Given the description of an element on the screen output the (x, y) to click on. 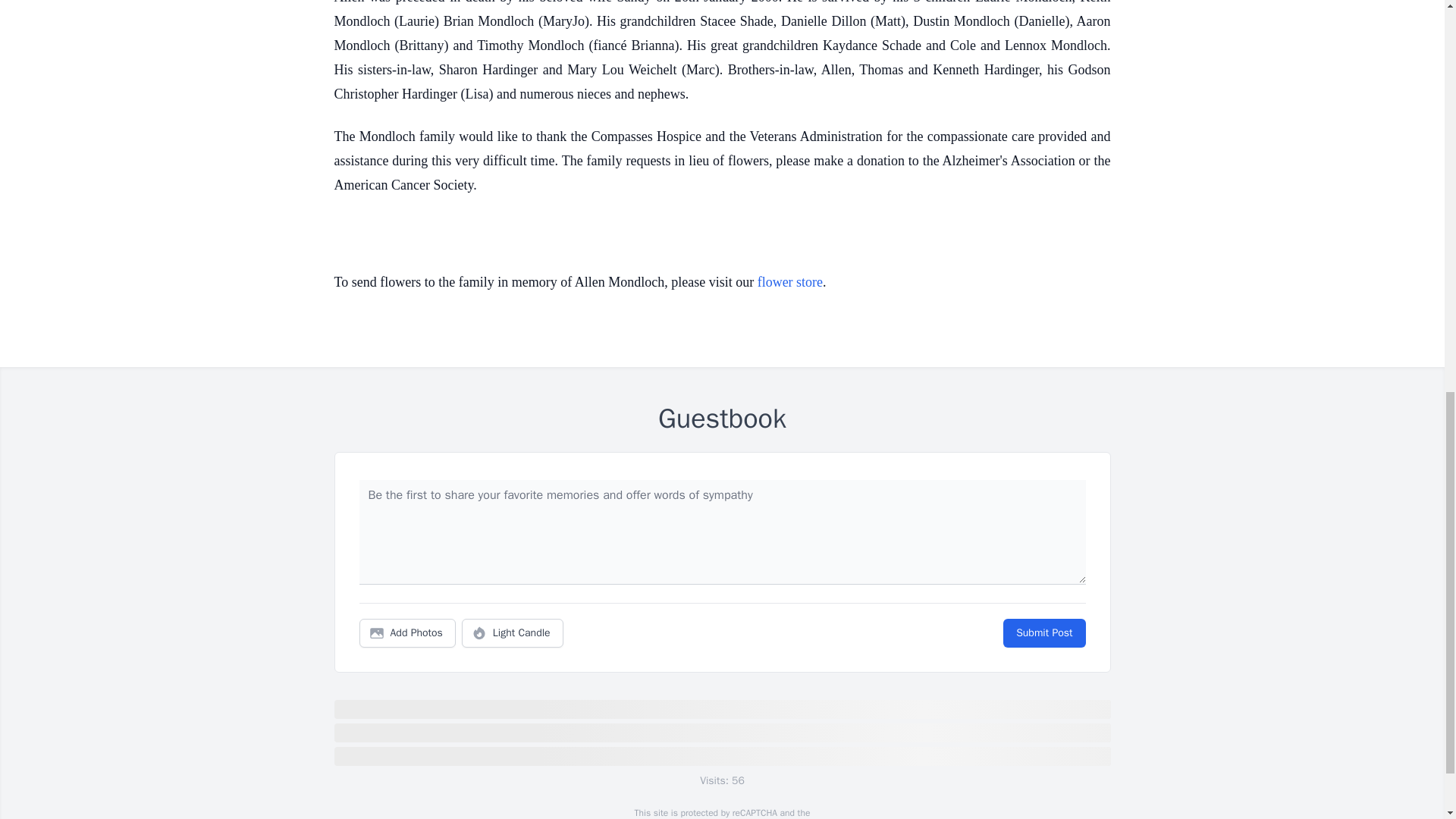
Add Photos (407, 633)
Light Candle (512, 633)
flower store (789, 281)
Submit Post (1043, 633)
